Given the description of an element on the screen output the (x, y) to click on. 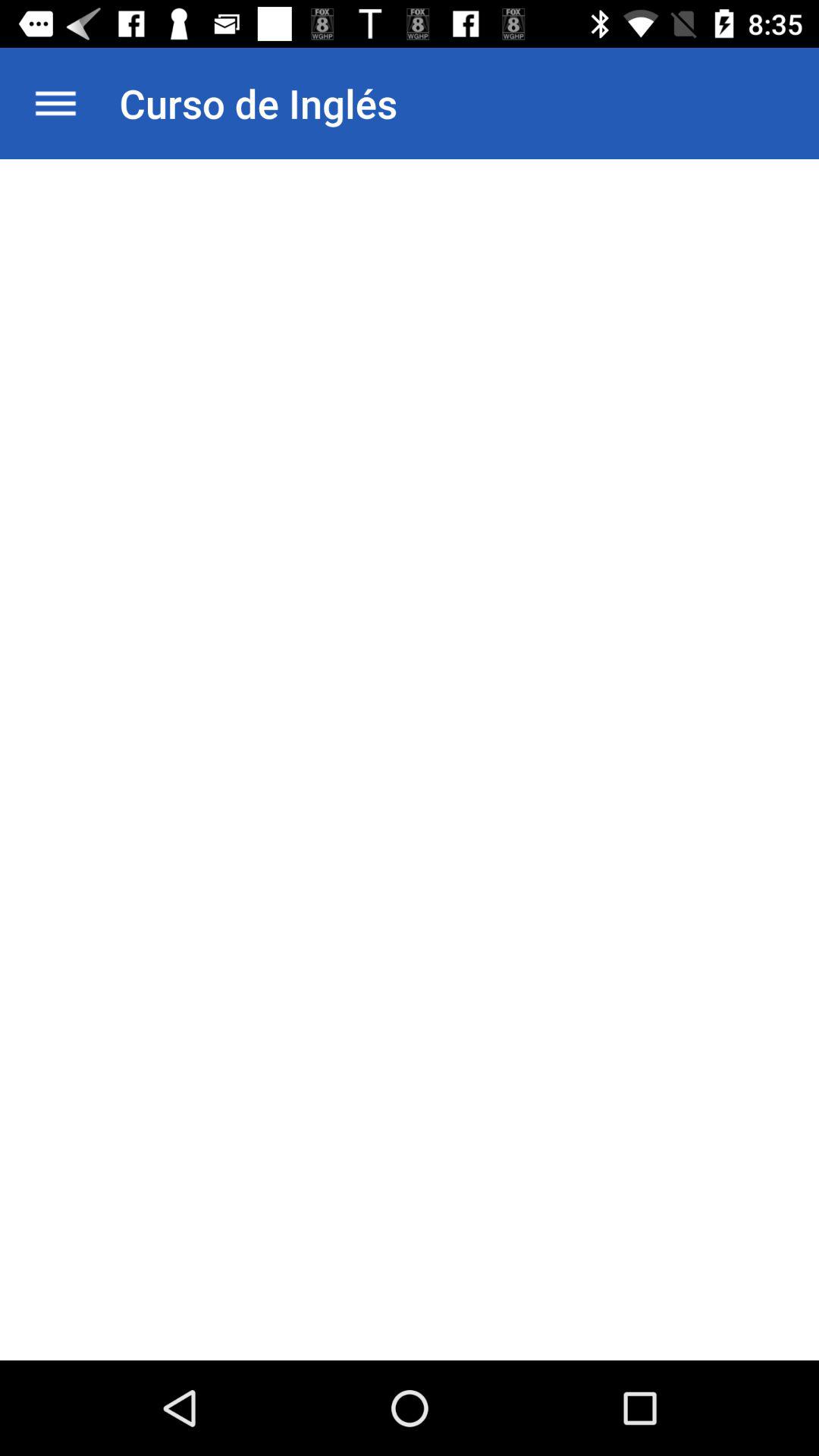
click icon at the center (403, 753)
